Given the description of an element on the screen output the (x, y) to click on. 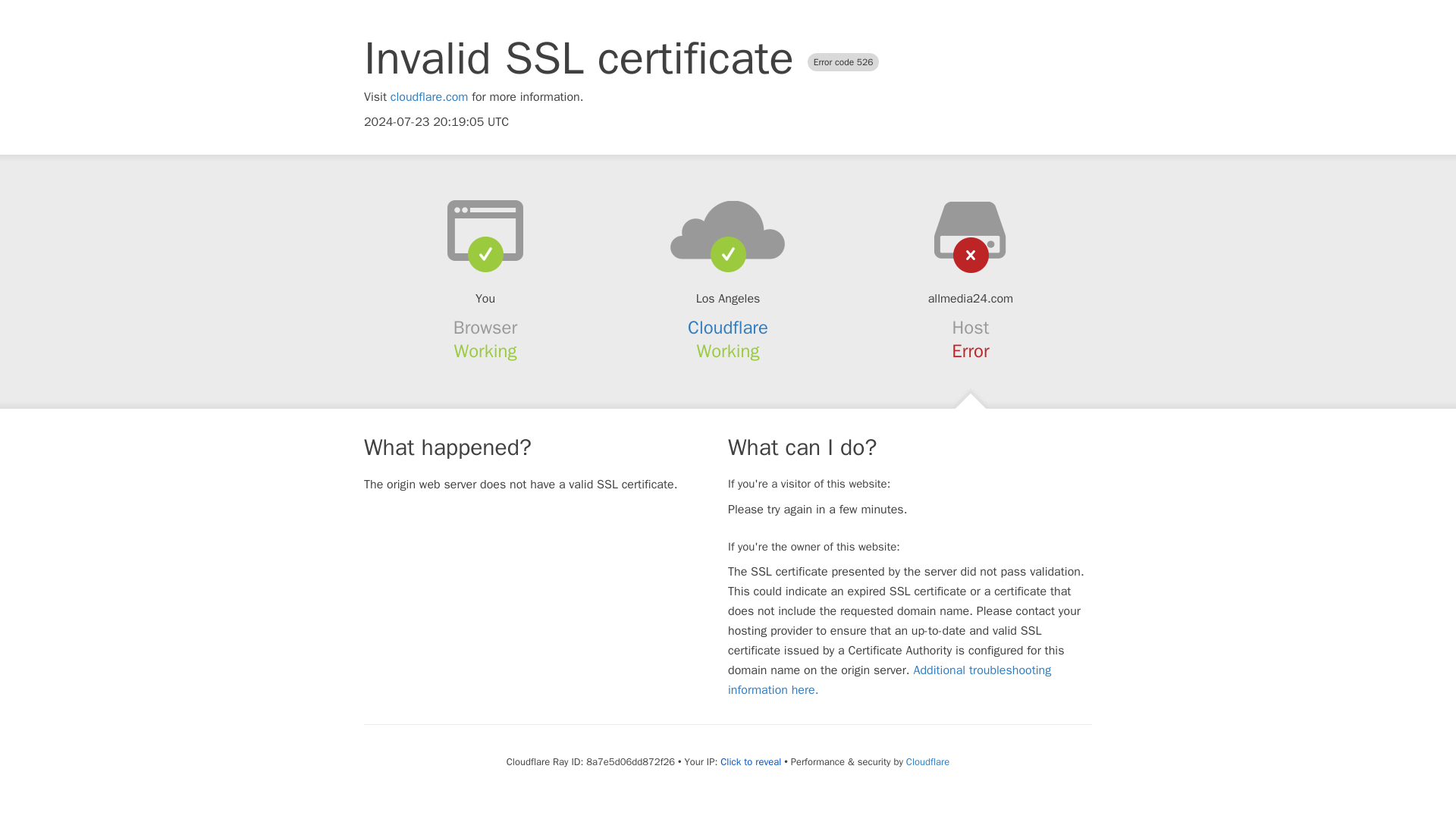
Click to reveal (750, 762)
Cloudflare (727, 327)
Additional troubleshooting information here. (889, 679)
Cloudflare (927, 761)
cloudflare.com (429, 96)
